Given the description of an element on the screen output the (x, y) to click on. 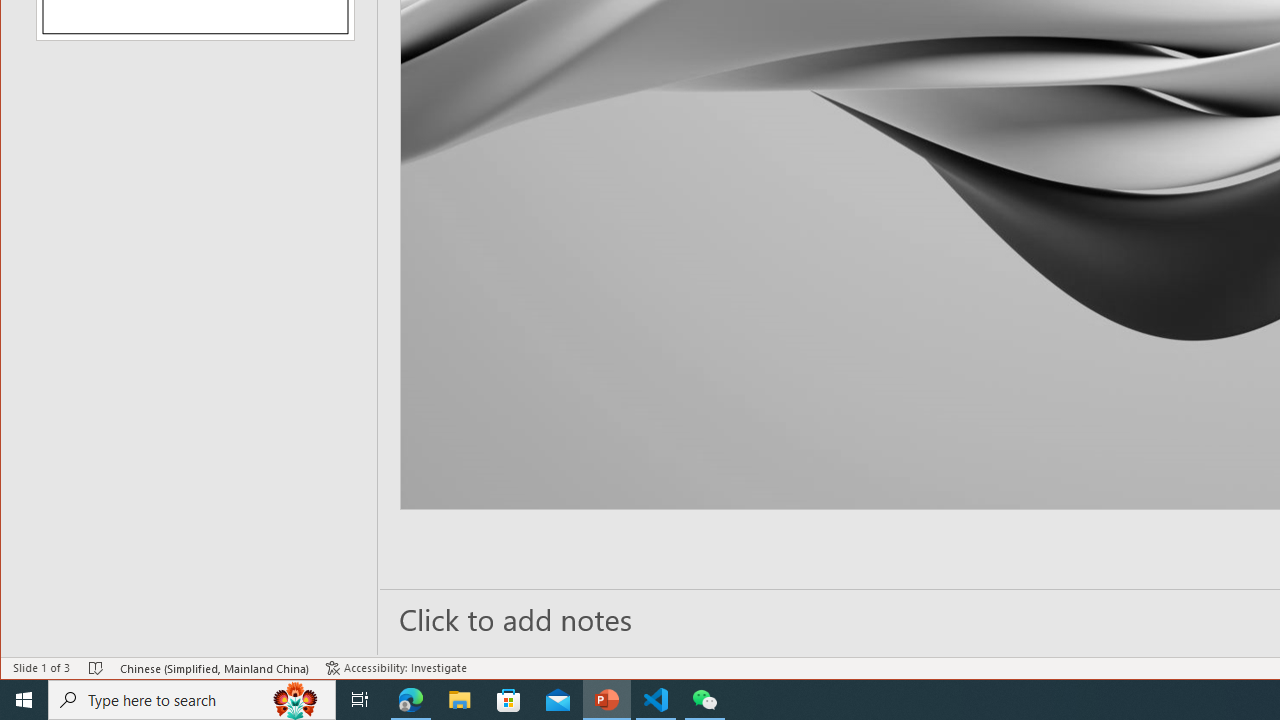
Visual Studio Code - 1 running window (656, 699)
Search highlights icon opens search home window (295, 699)
Microsoft Store (509, 699)
WeChat - 1 running window (704, 699)
Start (24, 699)
Type here to search (191, 699)
Accessibility Checker Accessibility: Investigate (395, 668)
Microsoft Edge - 1 running window (411, 699)
PowerPoint - 1 running window (607, 699)
Spell Check No Errors (96, 668)
Task View (359, 699)
File Explorer (460, 699)
